Given the description of an element on the screen output the (x, y) to click on. 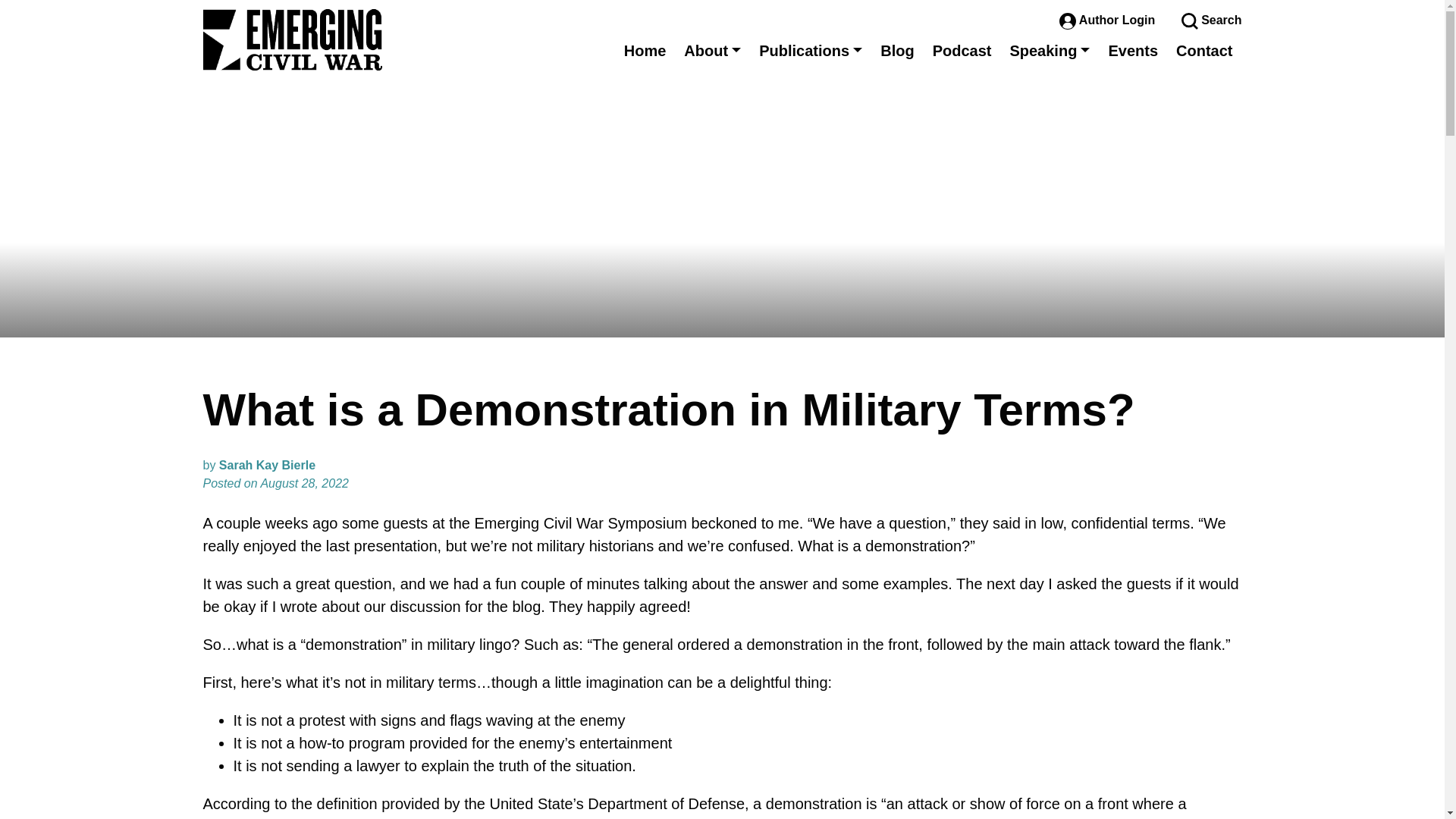
Publications (809, 50)
Podcast (962, 50)
Contact (1204, 50)
Blog (896, 50)
About (712, 50)
Speaking (1049, 50)
Sarah Kay Bierle (267, 464)
Author Login (1108, 19)
Search (1210, 19)
Events (1133, 50)
